Given the description of an element on the screen output the (x, y) to click on. 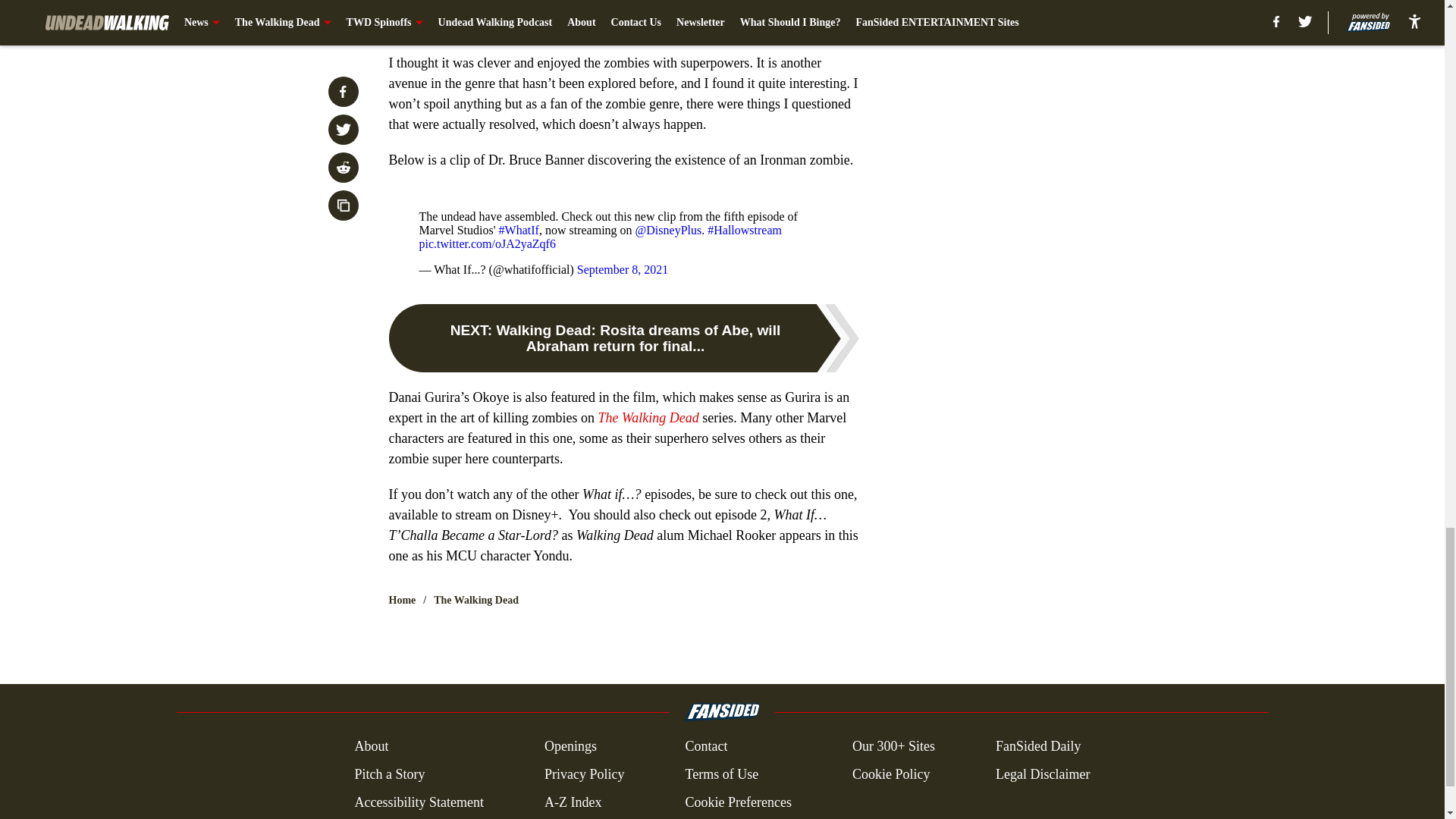
September 8, 2021 (622, 269)
Home (401, 600)
The Walking Dead (647, 417)
